Given the description of an element on the screen output the (x, y) to click on. 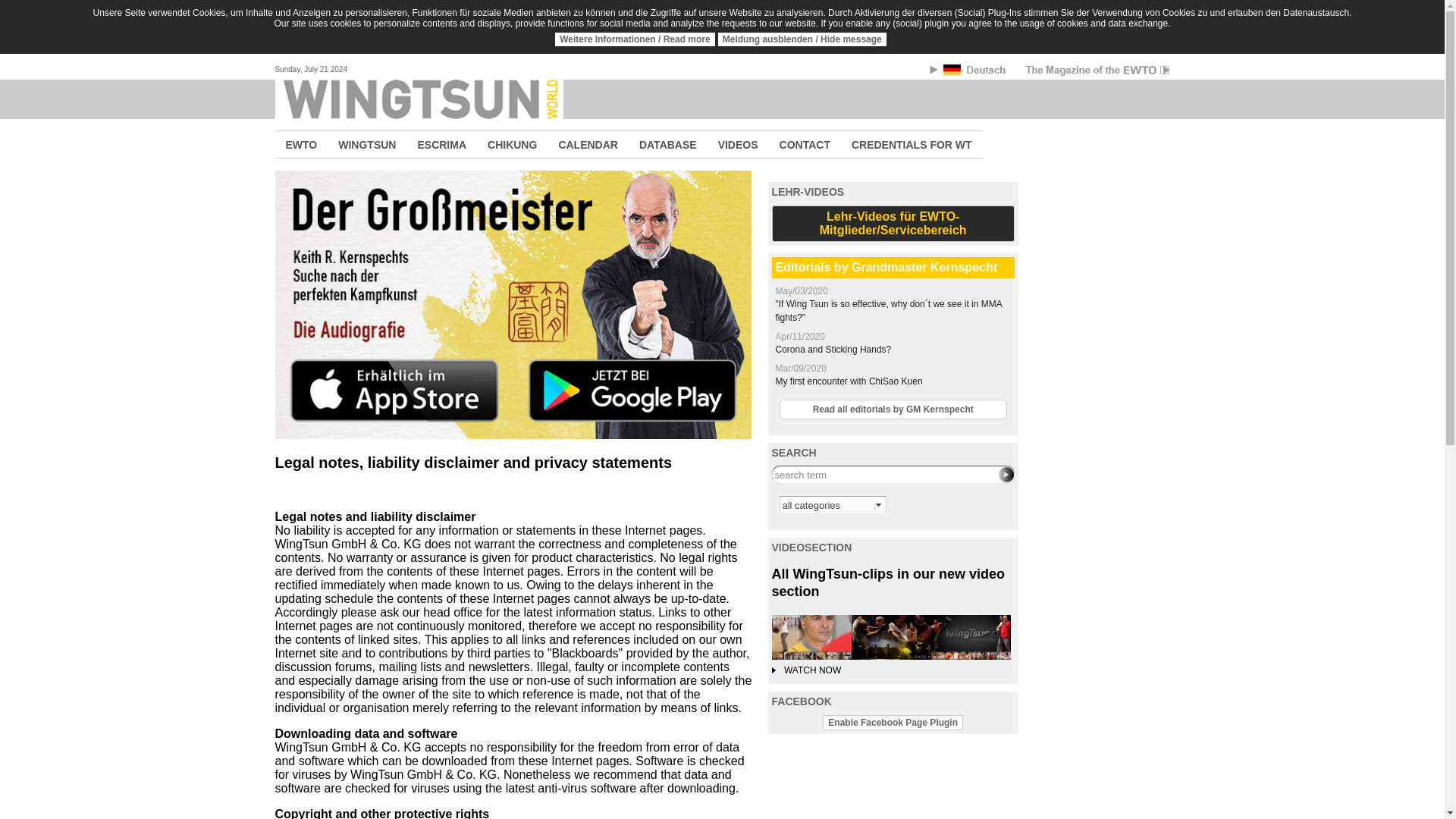
My first encounter with ChiSao Kuen (847, 380)
zur deutschen Version (976, 72)
WINGTSUN (366, 144)
Enter the terms you wish to search for. (892, 475)
CREDENTIALS FOR WT (911, 144)
VIDEOS (737, 144)
ESCRIMA (441, 144)
DATABASE (667, 144)
CHIKUNG (512, 144)
Corona and Sticking Hands? (832, 348)
Read all editorials by GM Kernspecht (892, 409)
EWTO (301, 144)
All WingTsun-clips in our new video section (888, 582)
CALENDAR (587, 144)
